Given the description of an element on the screen output the (x, y) to click on. 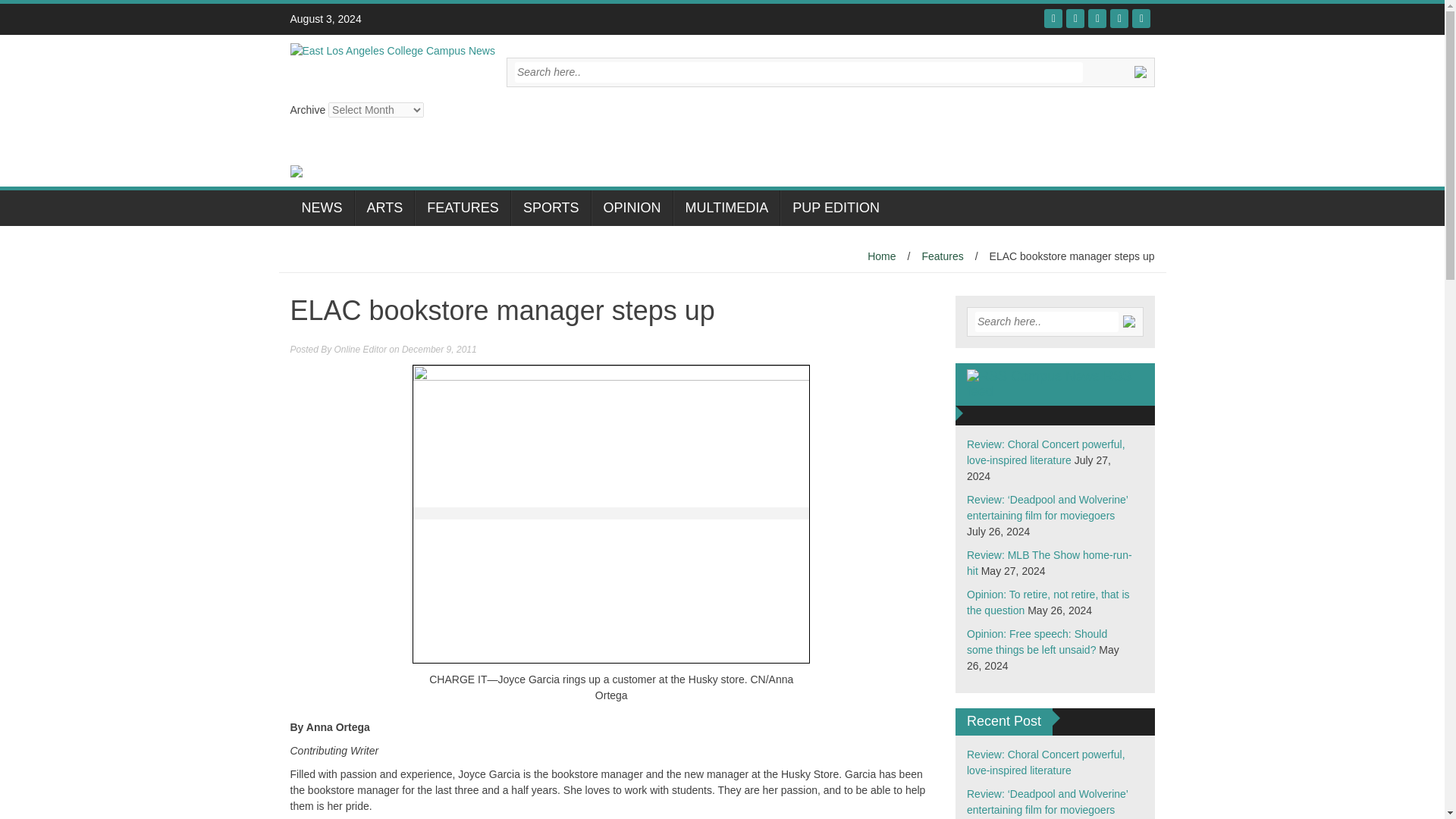
Search here.. (1046, 322)
SPORTS (551, 208)
PUP EDITION (835, 208)
ARTS (384, 208)
OPINION (631, 208)
MULTIMEDIA (726, 208)
Youtube (1096, 18)
Facebook (1052, 18)
Home (881, 256)
Twitter (1074, 18)
Features (941, 256)
Instagram (1118, 18)
Online Editor (360, 348)
Posts by Online Editor (360, 348)
NEWS (321, 208)
